Given the description of an element on the screen output the (x, y) to click on. 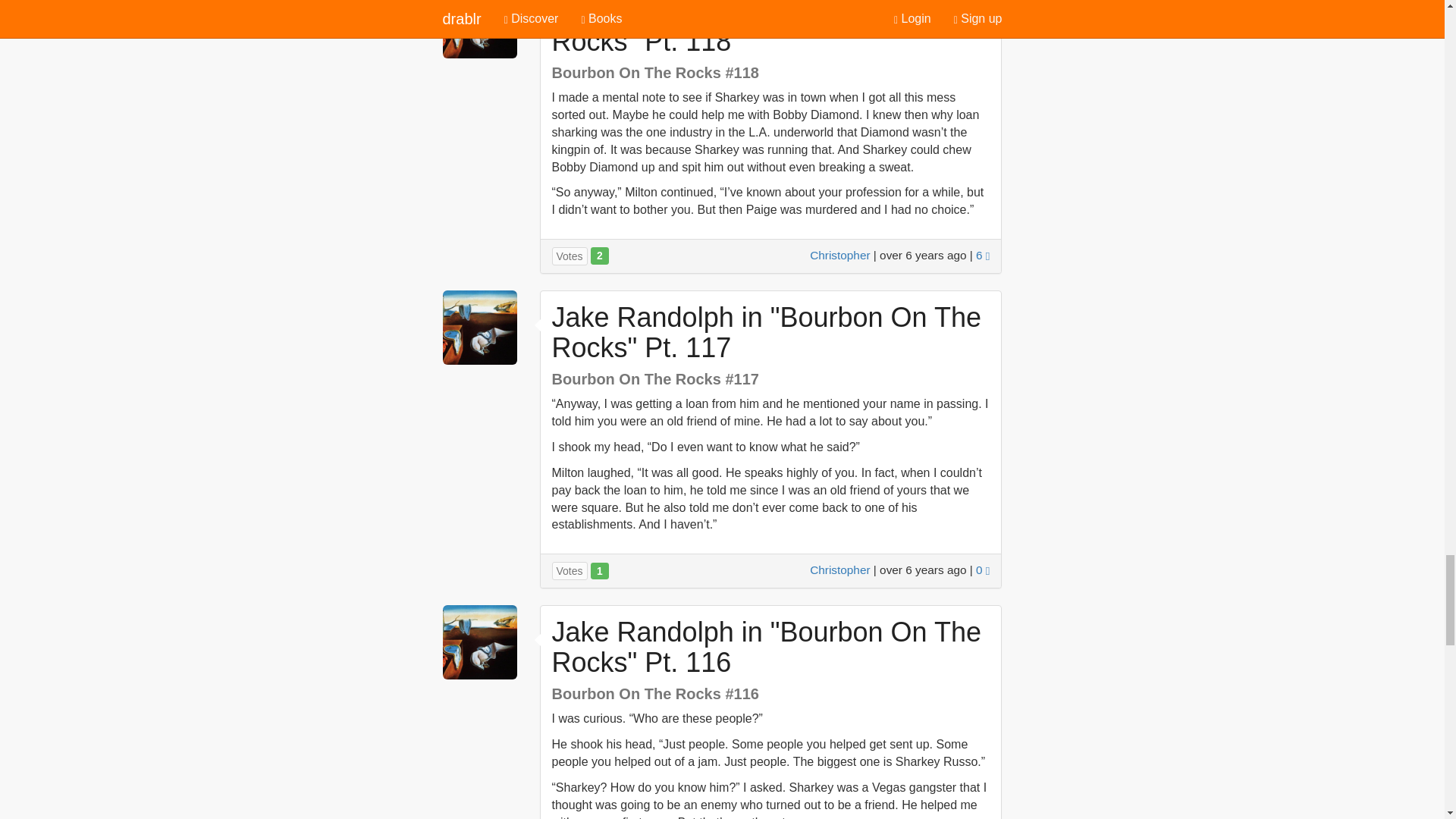
Comments (982, 569)
Comments (982, 254)
